Given the description of an element on the screen output the (x, y) to click on. 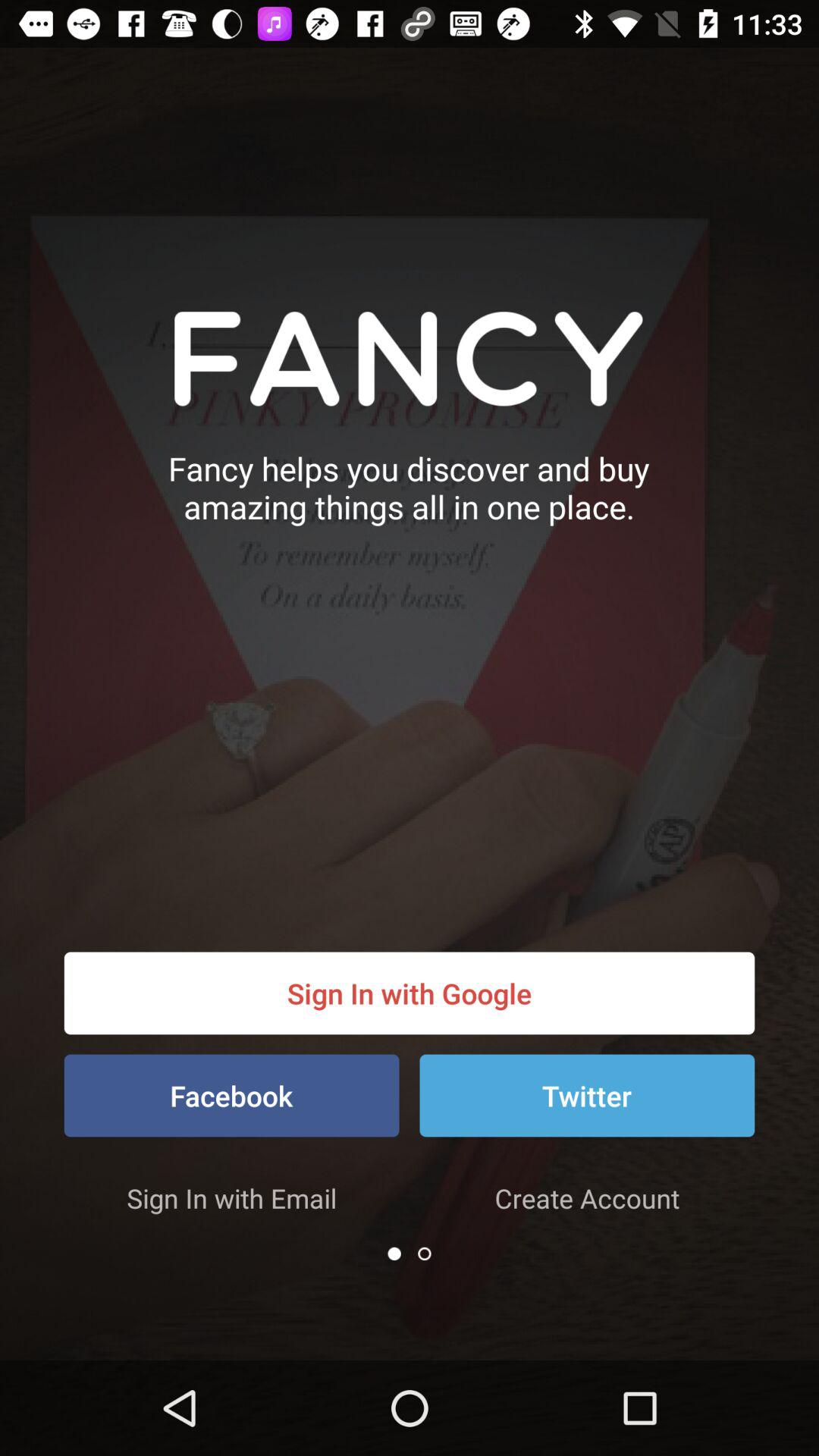
launch icon next to the twitter (231, 1095)
